Given the description of an element on the screen output the (x, y) to click on. 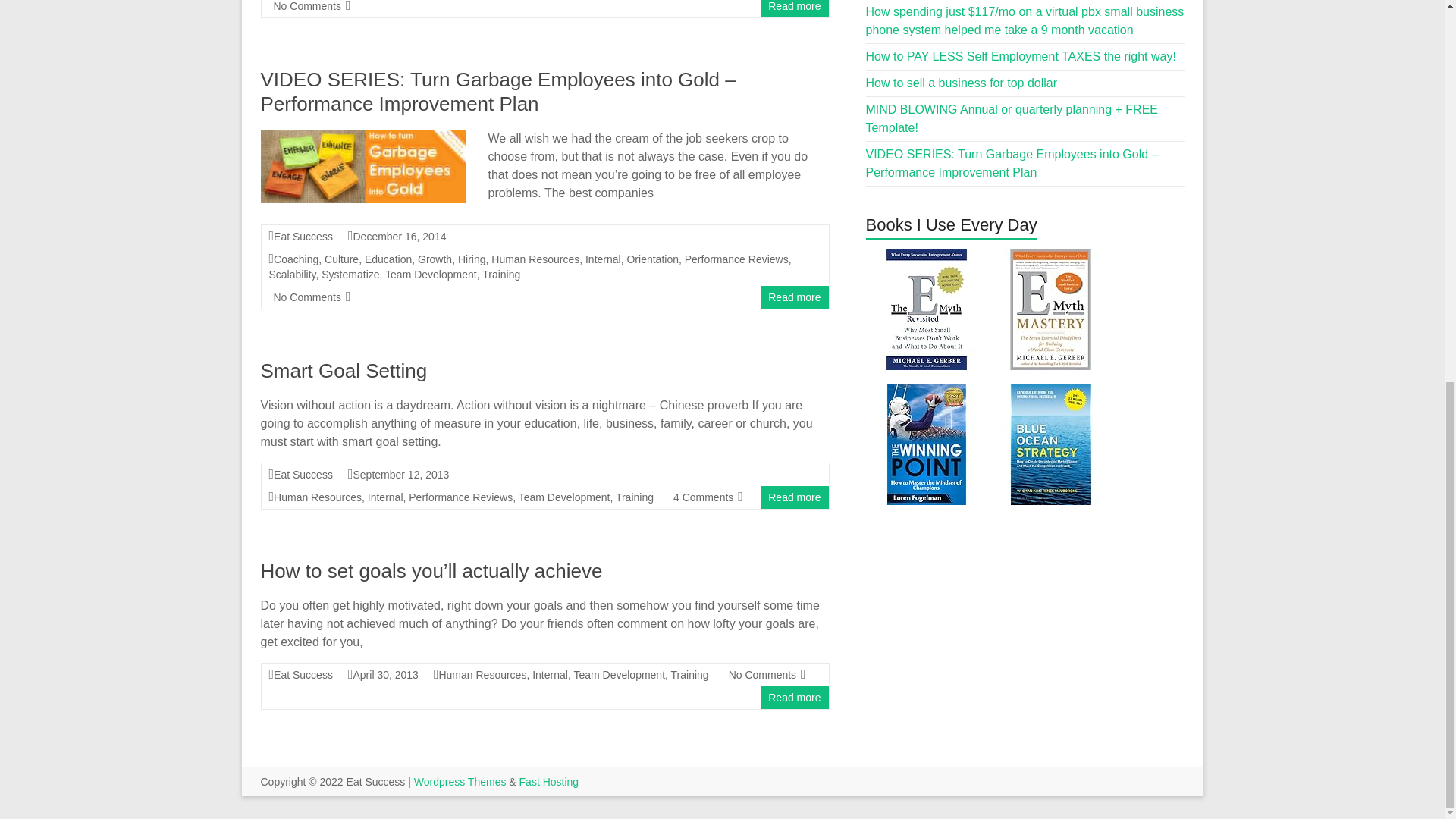
5:17 am (384, 674)
6:01 am (400, 474)
Eat Success (303, 236)
Read more (794, 6)
Education (388, 259)
Coaching (295, 259)
Smart Goal Setting (344, 370)
December 16, 2014 (398, 236)
Culture (341, 259)
Growth (434, 259)
7:34 am (398, 236)
